Given the description of an element on the screen output the (x, y) to click on. 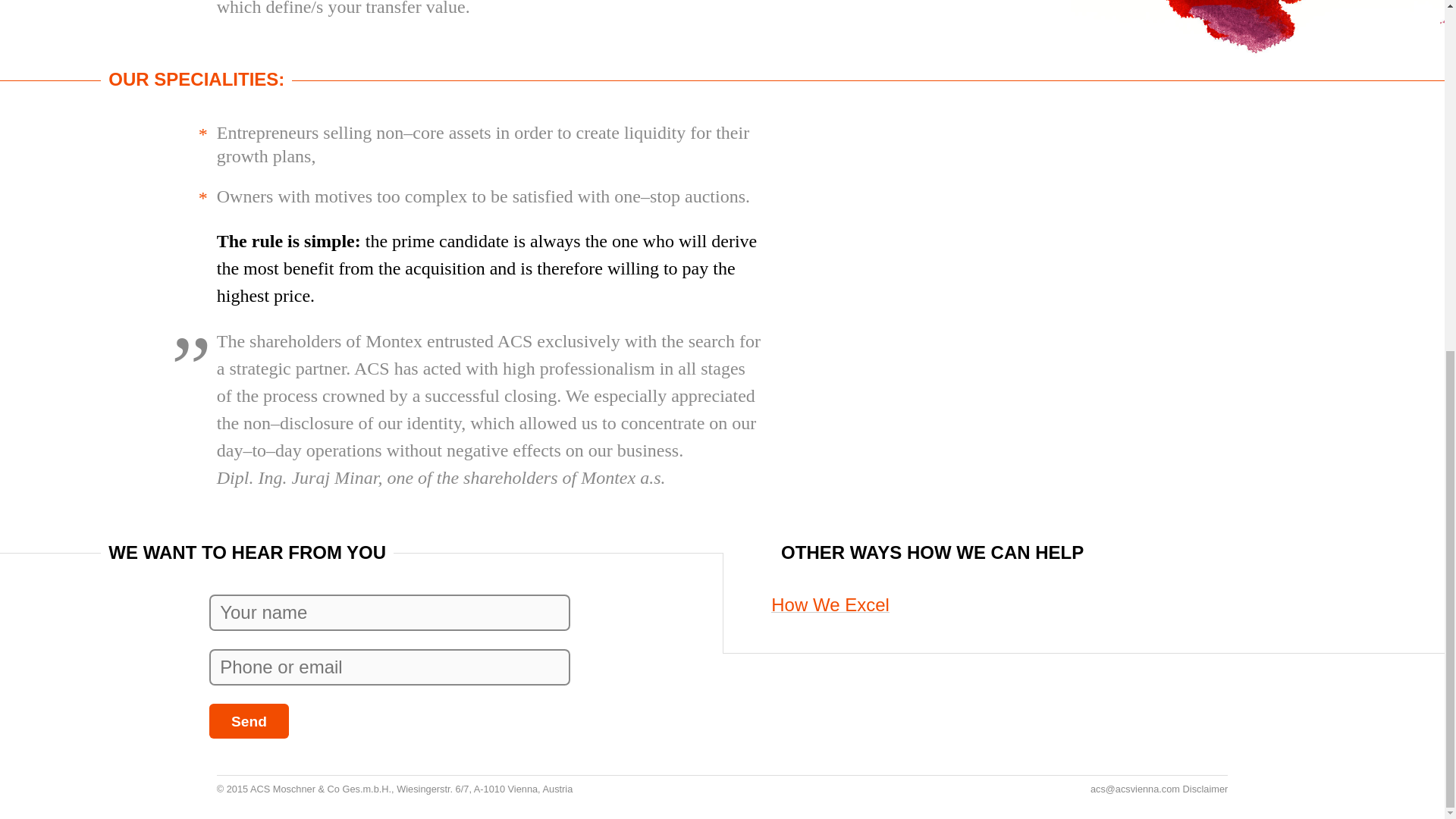
Disclaimer (1205, 788)
Send (248, 720)
How We Excel (830, 604)
Send (248, 720)
